Given the description of an element on the screen output the (x, y) to click on. 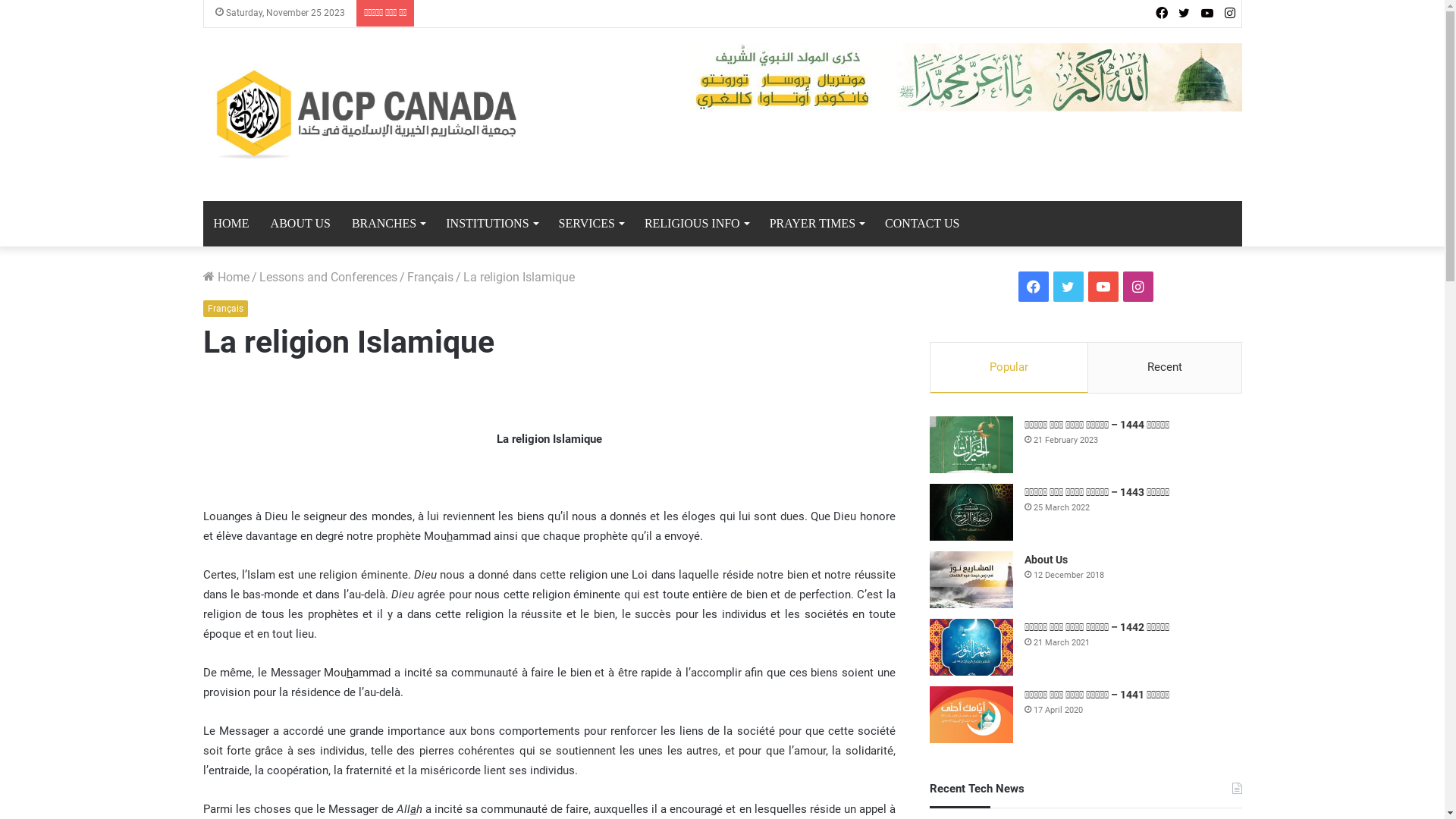
SERVICES Element type: text (590, 223)
Home Element type: text (226, 276)
HOME Element type: text (231, 223)
Lessons and Conferences Element type: text (328, 276)
BRANCHES Element type: text (388, 223)
RELIGIOUS INFO Element type: text (696, 223)
Association of Islamic Charitable Projects Element type: hover (368, 114)
INSTITUTIONS Element type: text (491, 223)
Recent Element type: text (1164, 367)
PRAYER TIMES Element type: text (816, 223)
Popular Element type: text (1009, 367)
ABOUT US Element type: text (300, 223)
About Us Element type: text (1045, 559)
CONTACT US Element type: text (921, 223)
